Given the description of an element on the screen output the (x, y) to click on. 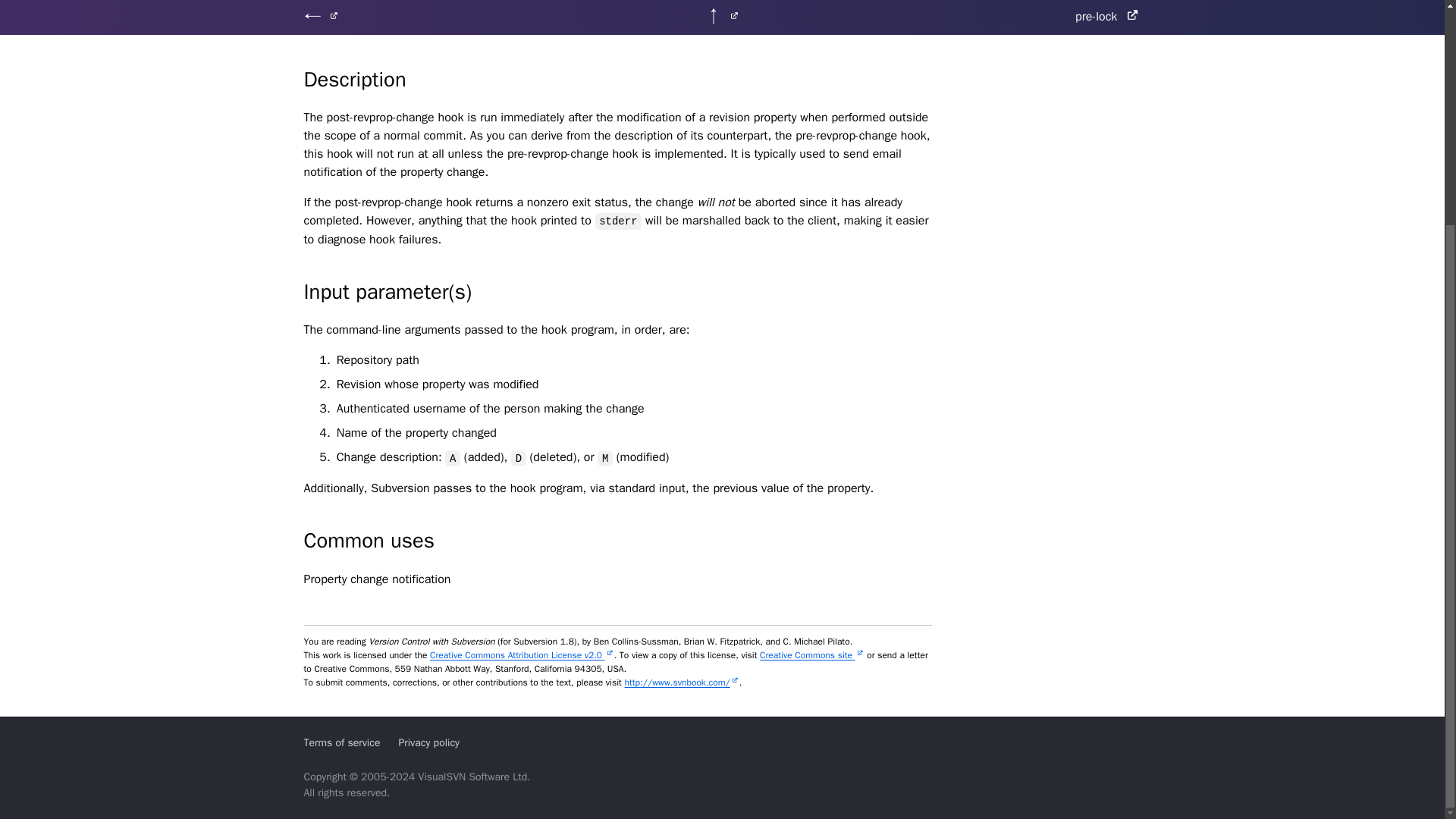
Common uses (616, 558)
Synopsis (616, 18)
Description (616, 157)
Creative Commons Attribution License v2.0 (521, 654)
Privacy policy (428, 742)
Terms of service (341, 742)
Creative Commons site (812, 654)
